Given the description of an element on the screen output the (x, y) to click on. 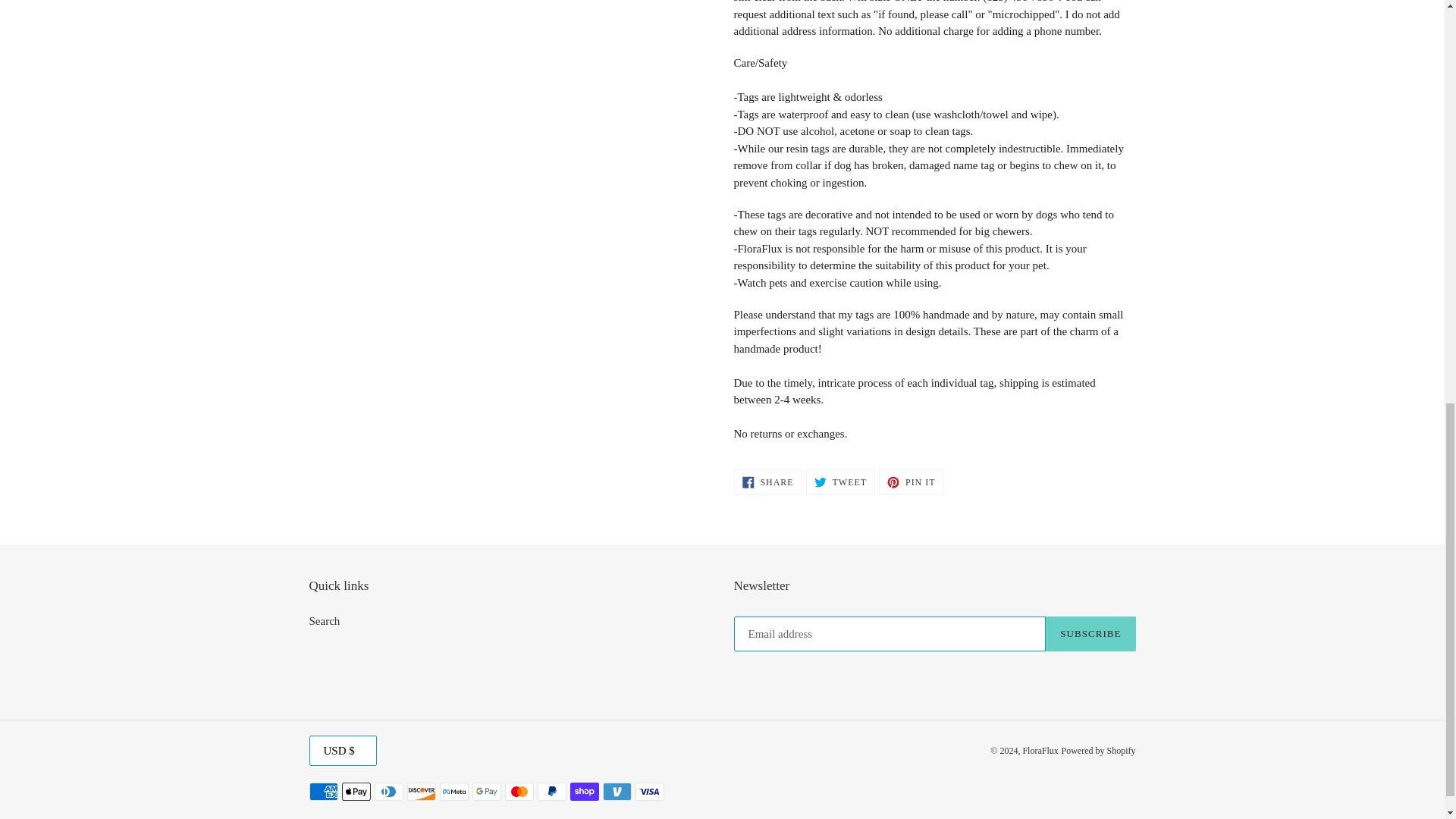
Search (767, 482)
SUBSCRIBE (324, 621)
